Given the description of an element on the screen output the (x, y) to click on. 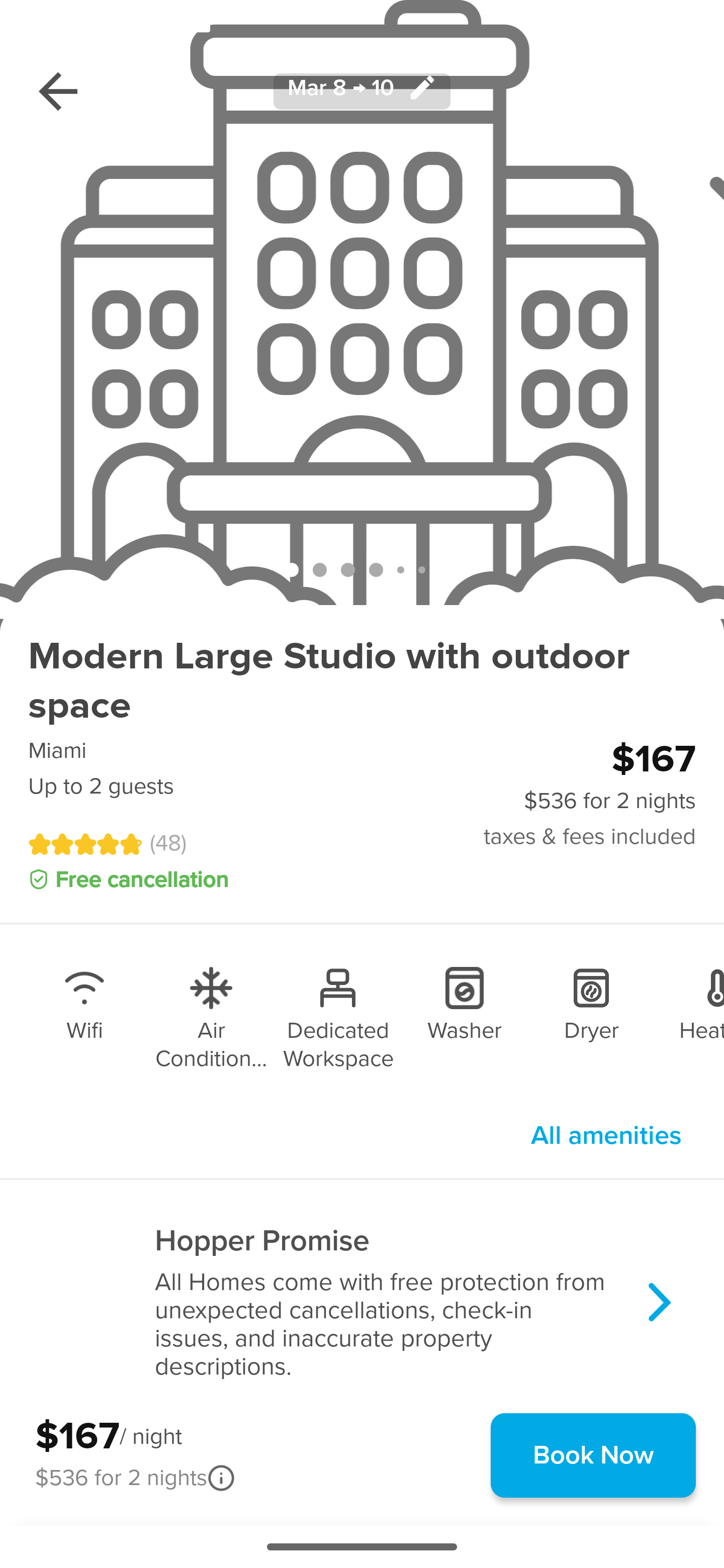
Mar 8 → 10 (361, 90)
Modern Large Studio with outdoor space (361, 681)
All amenities (606, 1134)
Book Now (592, 1454)
